Given the description of an element on the screen output the (x, y) to click on. 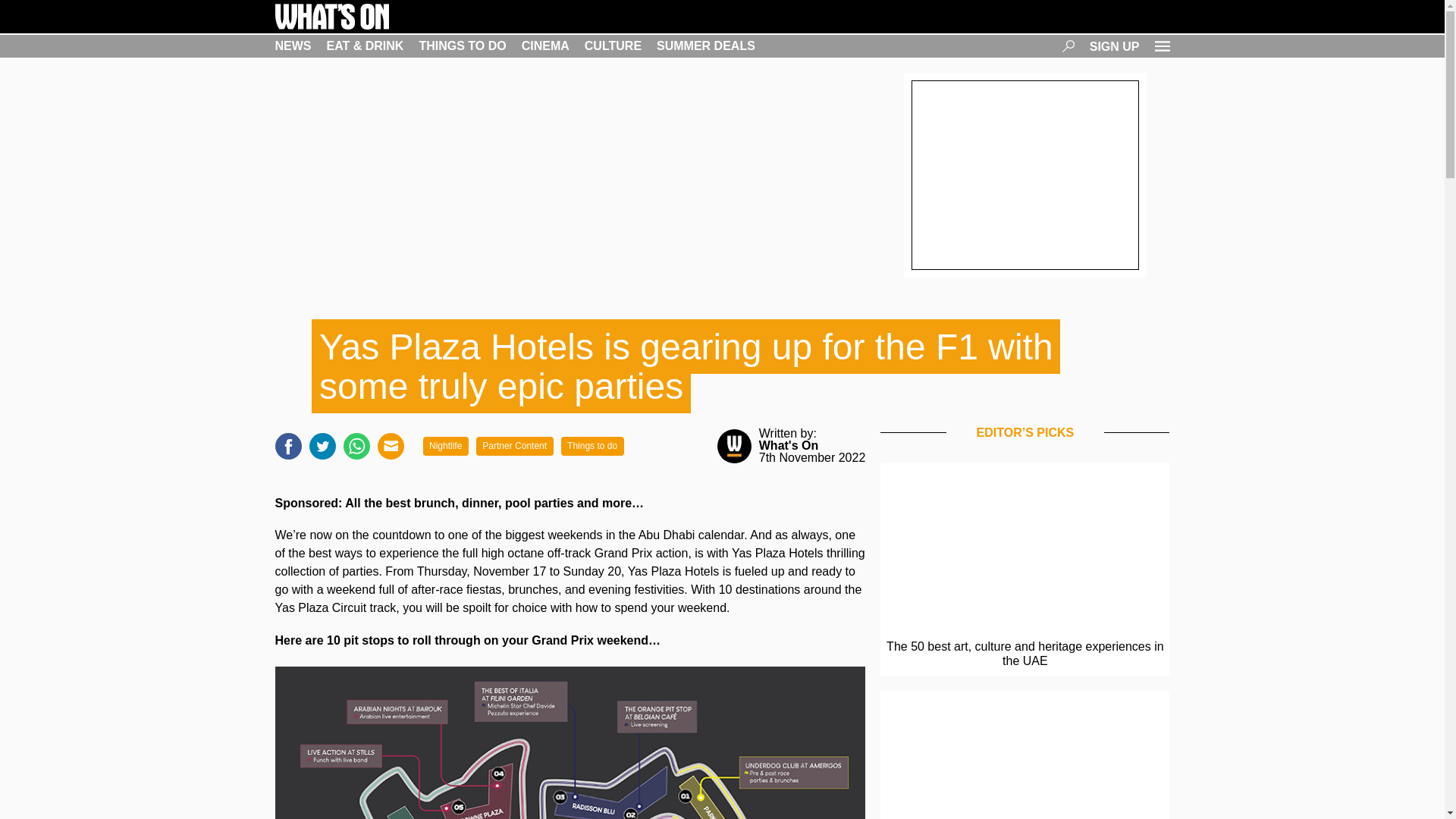
CINEMA (545, 45)
NEWS (293, 45)
CULTURE (613, 45)
SUMMER DEALS (705, 45)
SIGN UP (1114, 45)
THINGS TO DO (462, 45)
